Given the description of an element on the screen output the (x, y) to click on. 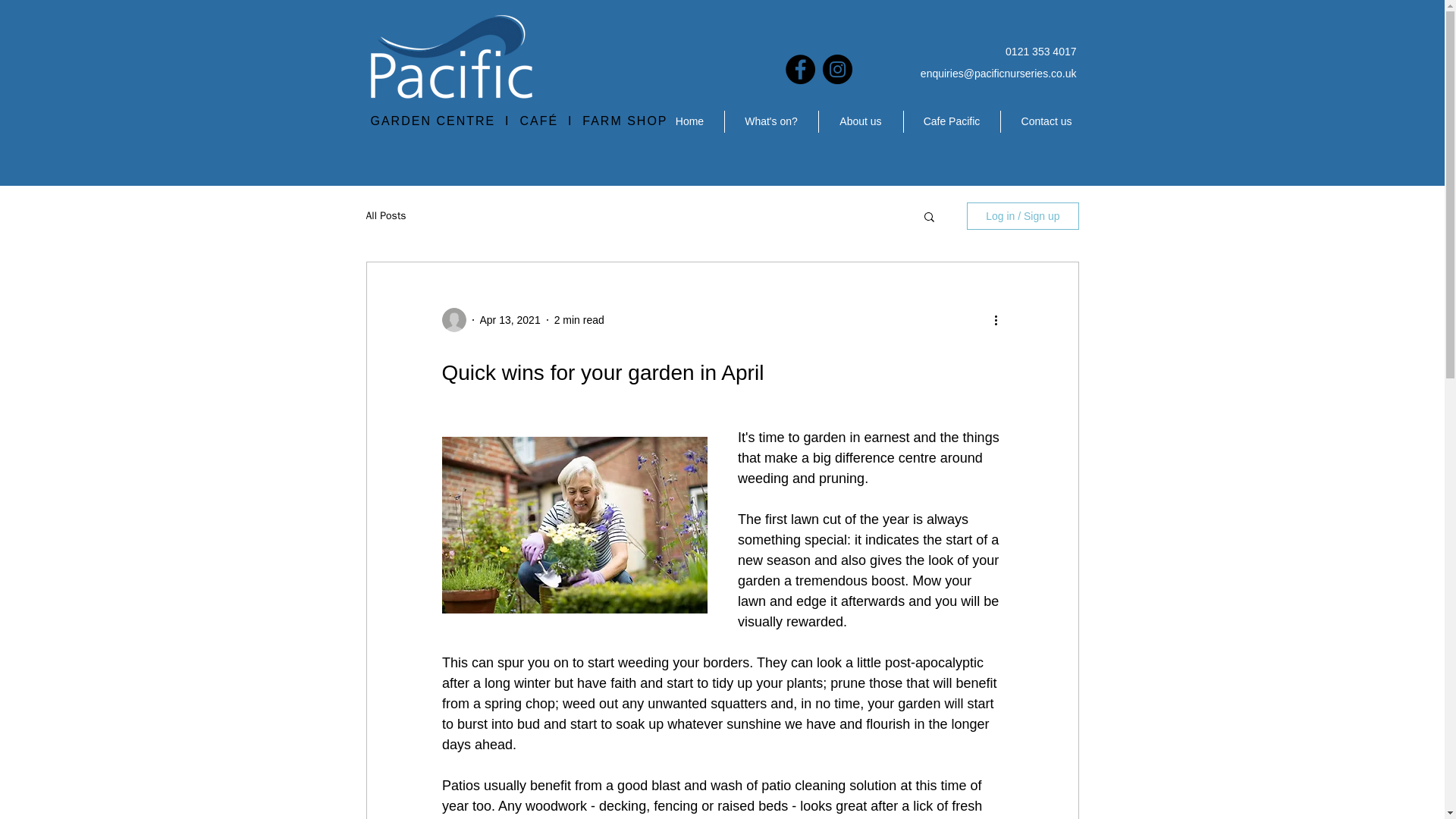
2 min read (579, 319)
About us (860, 121)
Apr 13, 2021 (509, 319)
Home (689, 121)
Cafe Pacific (952, 121)
All Posts (385, 215)
Contact us (1047, 121)
What's on? (771, 121)
